Given the description of an element on the screen output the (x, y) to click on. 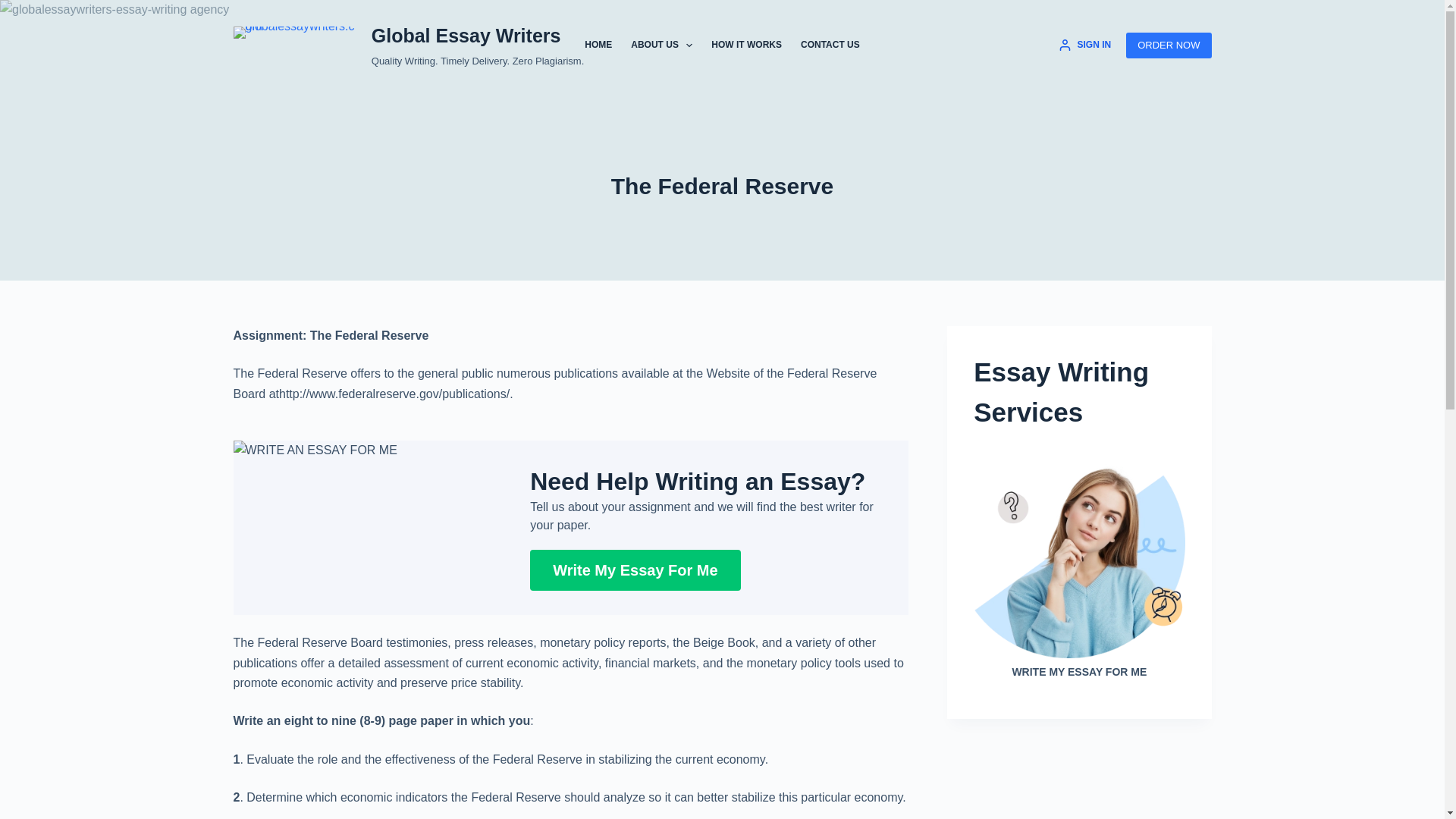
Global Essay Writers (465, 35)
Skip to content (15, 7)
ABOUT US (661, 45)
The Federal Reserve (722, 185)
HOME (598, 45)
HOW IT WORKS (746, 45)
CONTACT US (829, 45)
SIGN IN (1084, 45)
ORDER NOW (1168, 45)
Write My Essay For Me (634, 569)
